Given the description of an element on the screen output the (x, y) to click on. 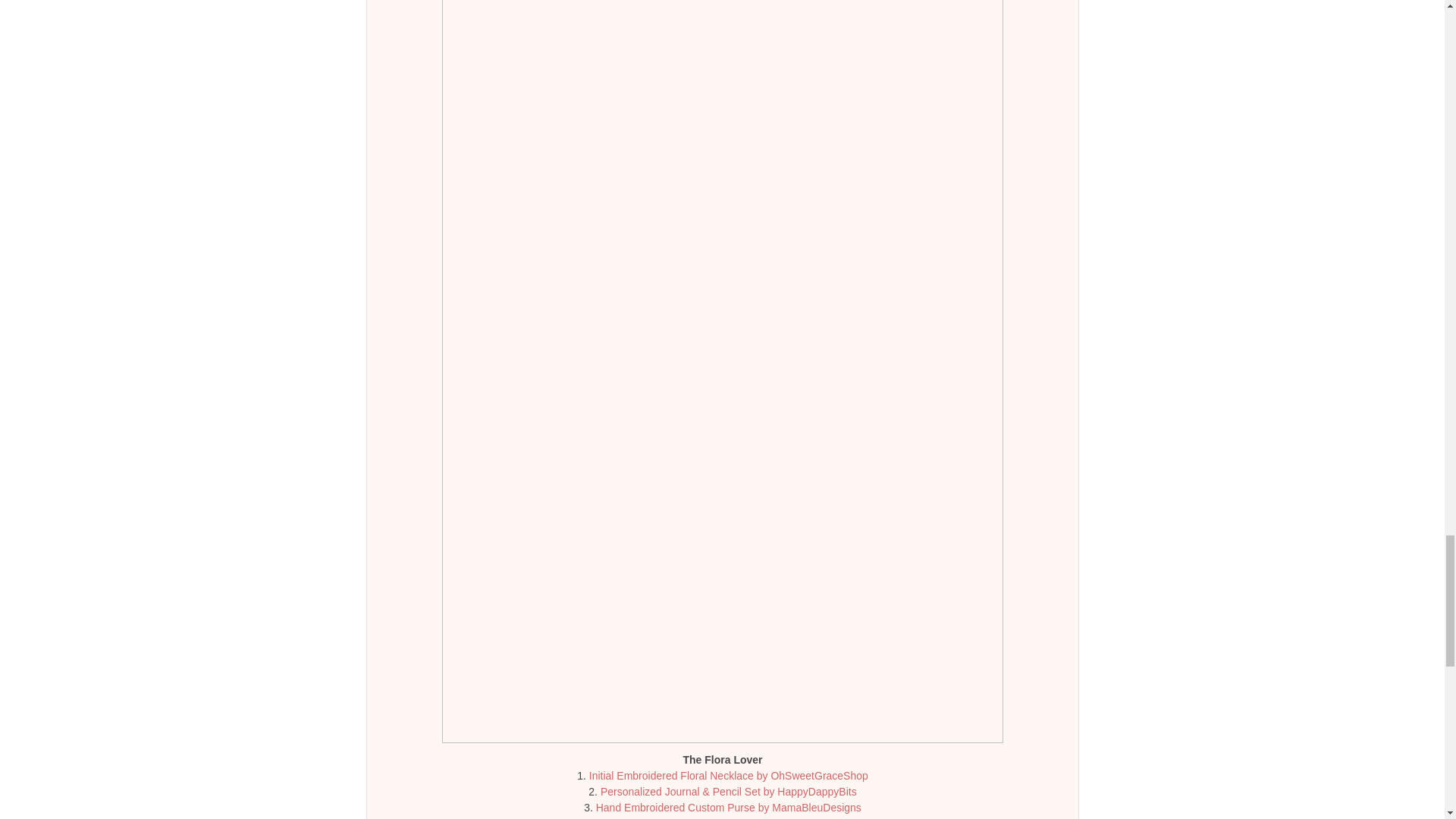
Hand Embroidered Custom Purse by MamaBleuDesigns (727, 807)
Initial Embroidered Floral Necklace by OhSweetGraceShop (727, 775)
